Given the description of an element on the screen output the (x, y) to click on. 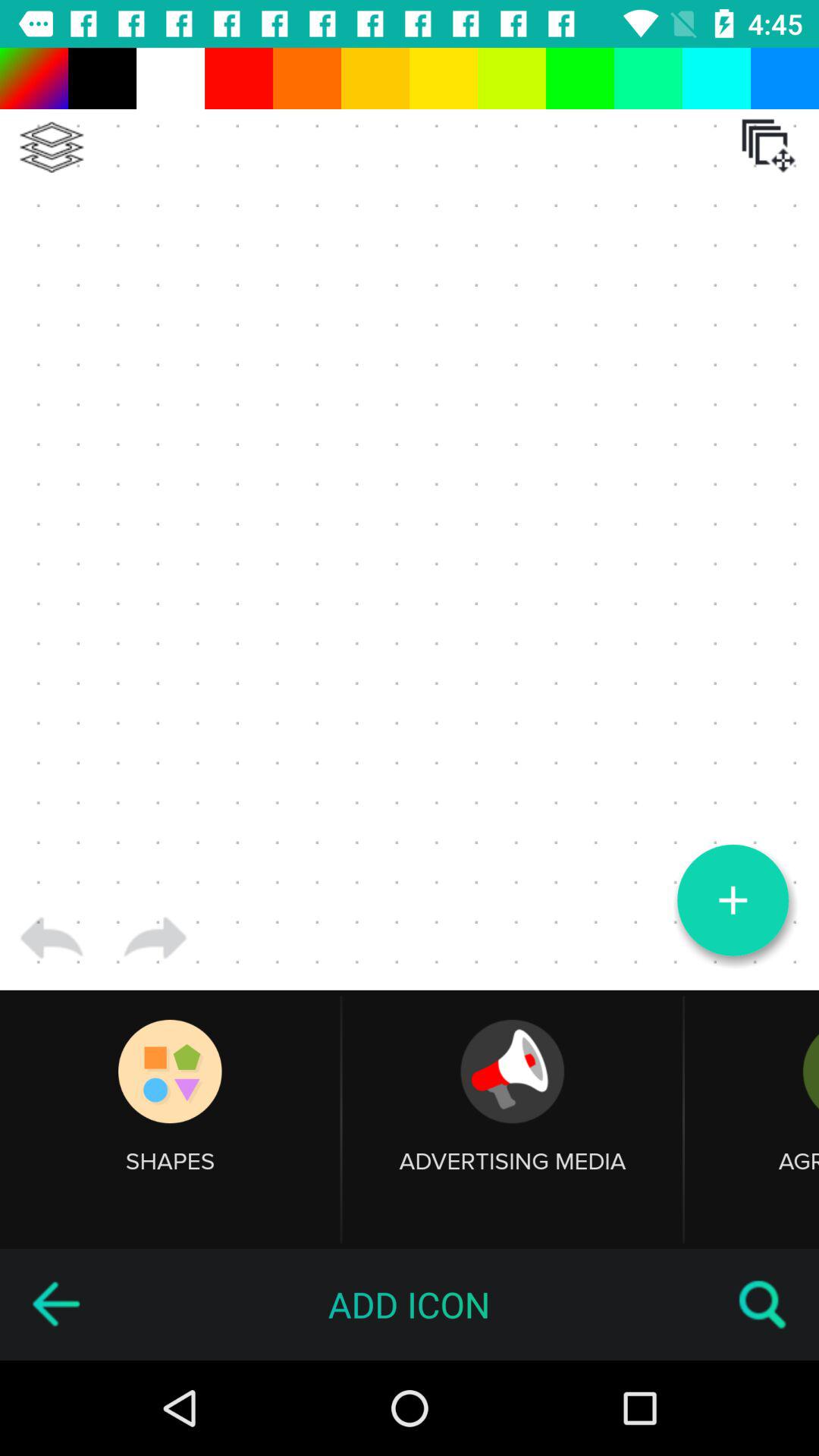
page forward (155, 938)
